Given the description of an element on the screen output the (x, y) to click on. 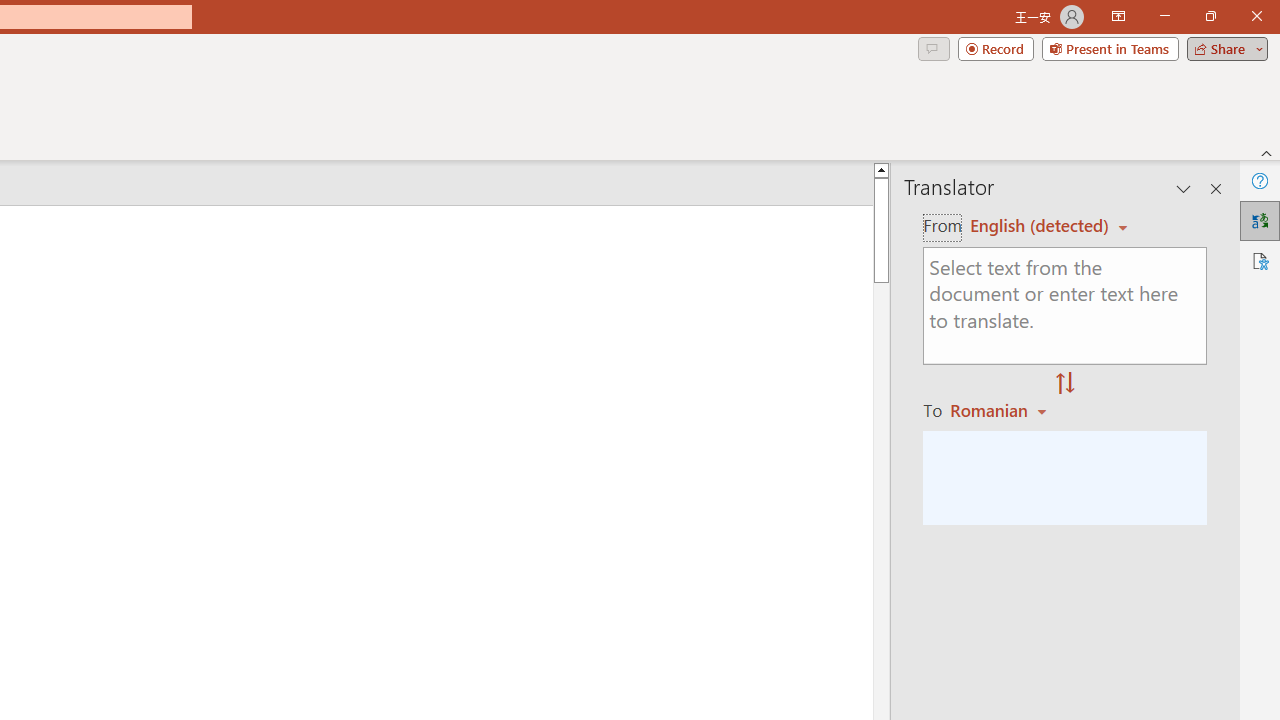
Romanian (1001, 409)
Swap "from" and "to" languages. (1065, 383)
